Given the description of an element on the screen output the (x, y) to click on. 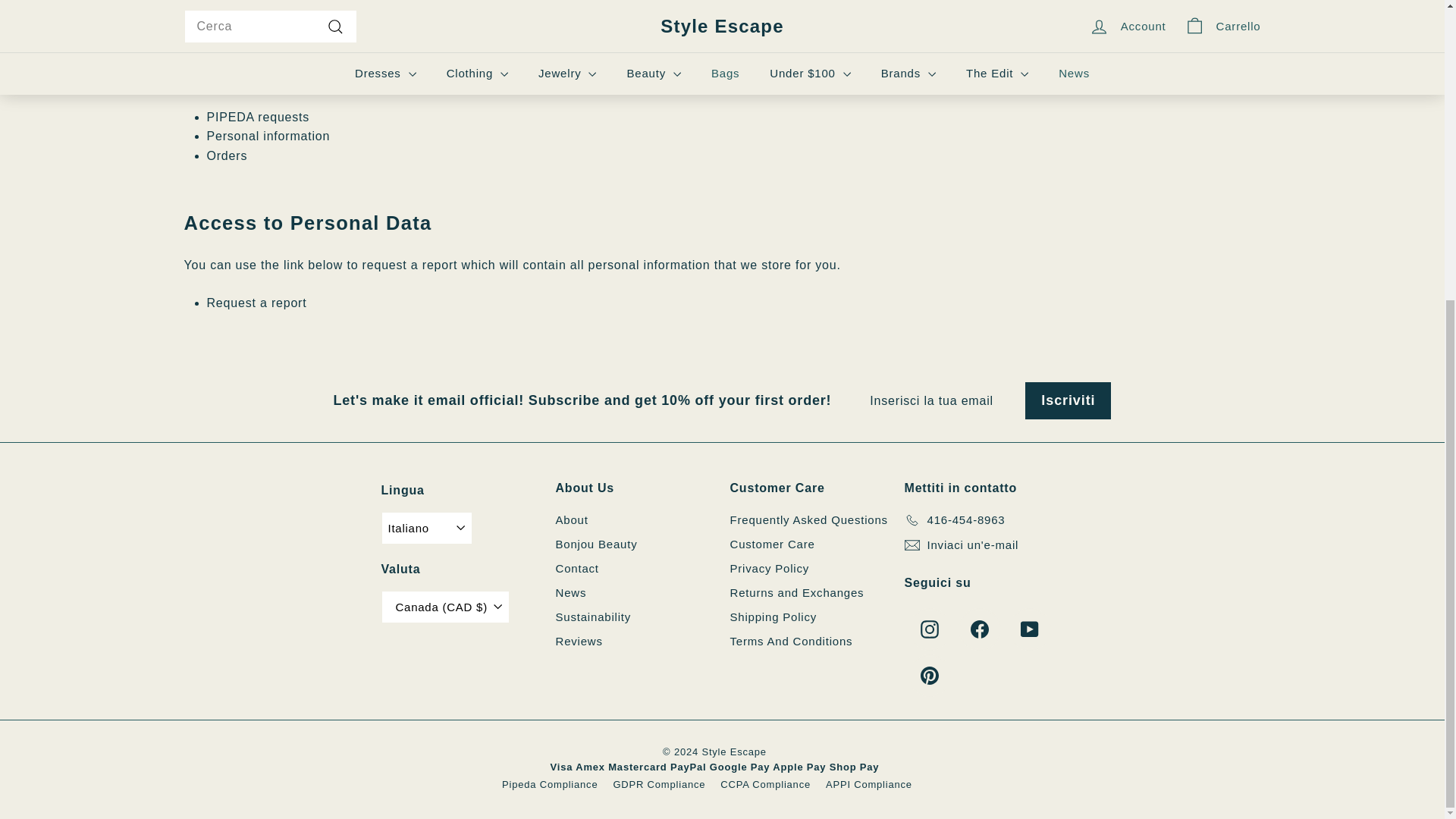
instagram (929, 628)
Style Escape su YouTube (1030, 629)
Style Escape su Instagram (929, 629)
Style Escape su Facebook (979, 629)
Style Escape su Pinterest (929, 675)
